Given the description of an element on the screen output the (x, y) to click on. 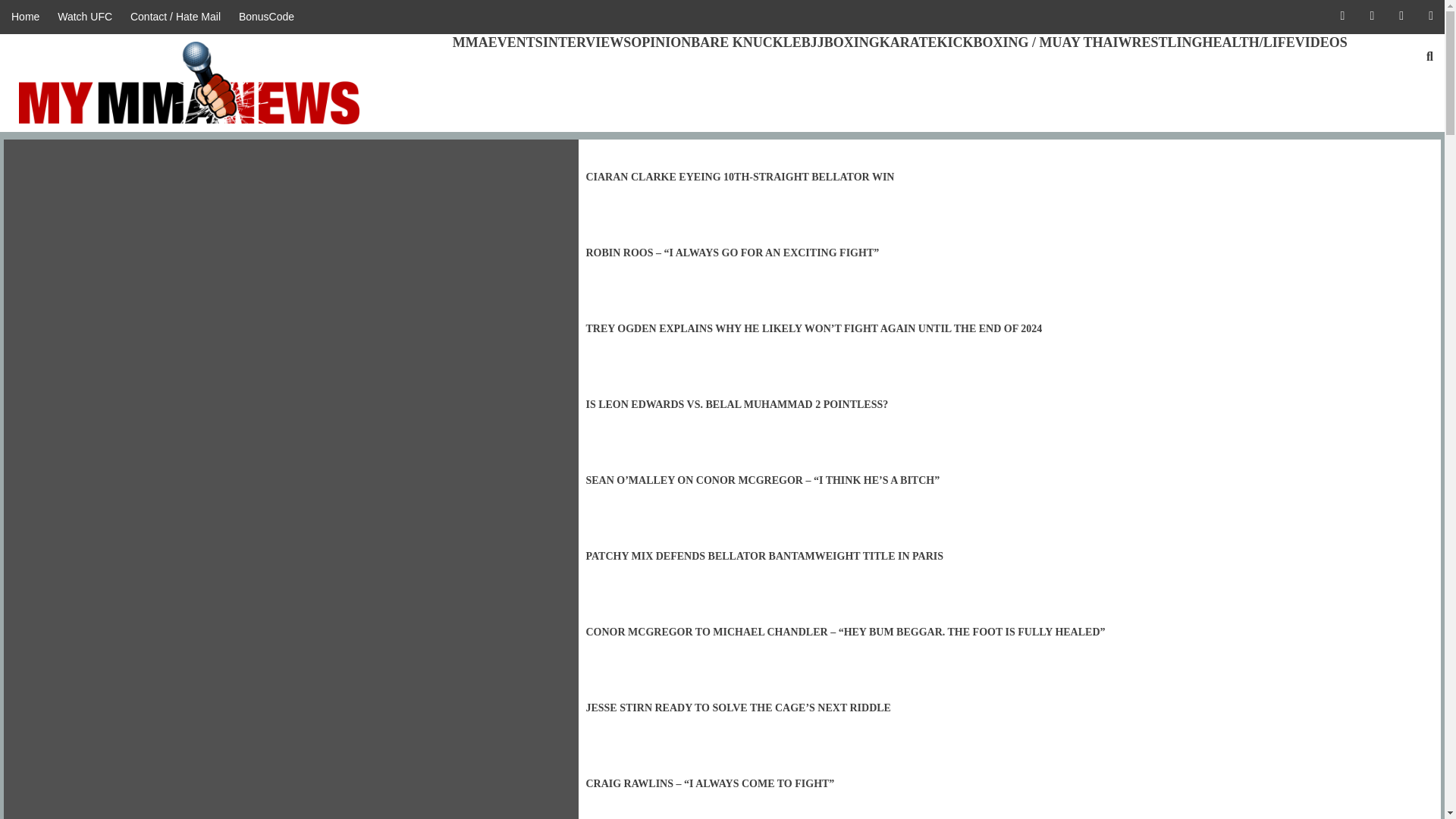
MMA News (469, 42)
WRESTLING (1160, 42)
BonusCode (266, 17)
Home (28, 17)
Boxing News (851, 42)
INTERVIEWS (586, 42)
BJJ (813, 42)
BJJ (813, 42)
BOXING (851, 42)
Karate (908, 42)
Bare Knuckle News (746, 42)
BARE KNUCKLE (746, 42)
EVENTS (515, 42)
MMA News (28, 17)
Opinion (660, 42)
